Given the description of an element on the screen output the (x, y) to click on. 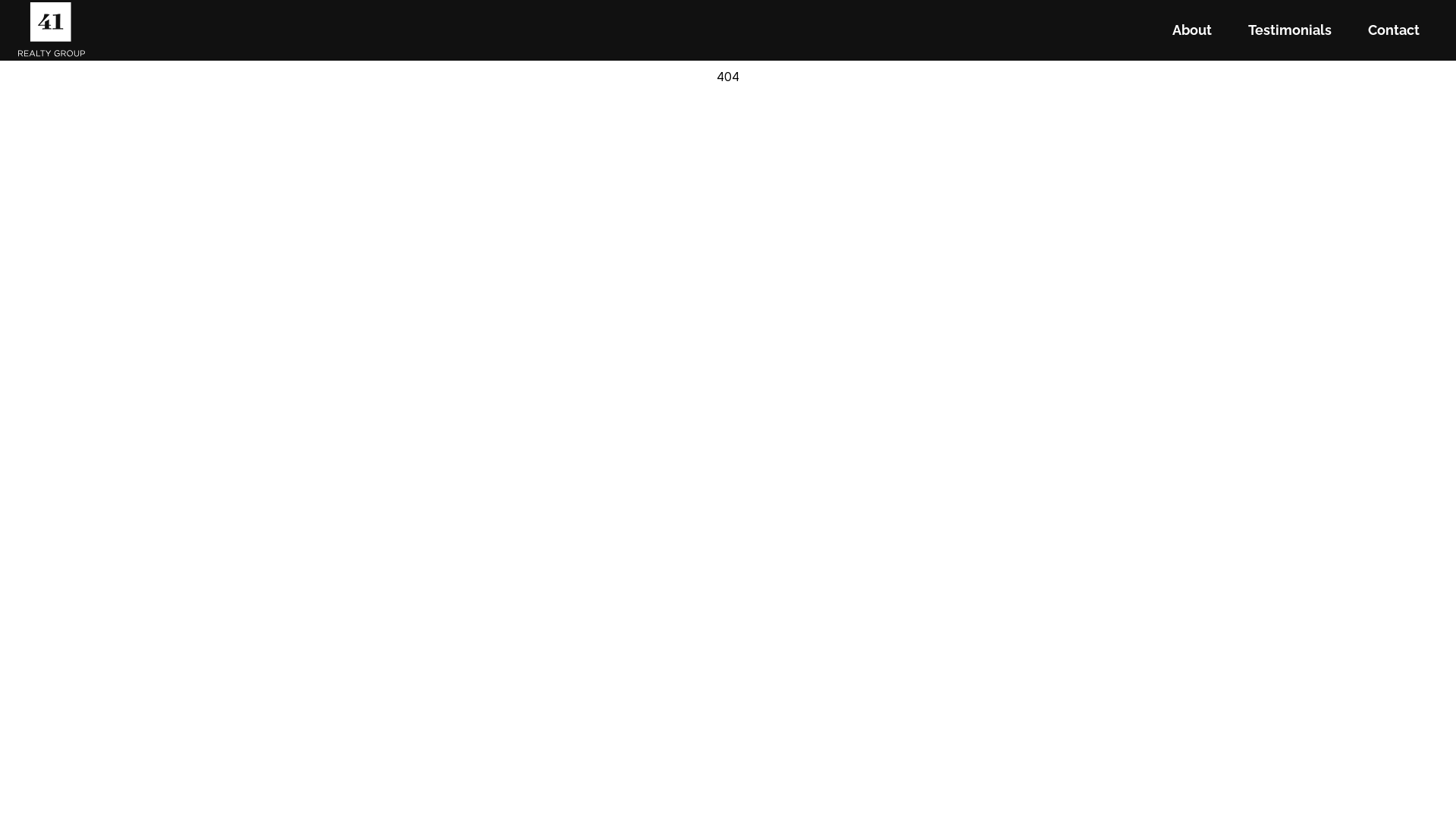
About Element type: text (1191, 29)
Contact Element type: text (1393, 29)
Testimonials Element type: text (1289, 29)
